Given the description of an element on the screen output the (x, y) to click on. 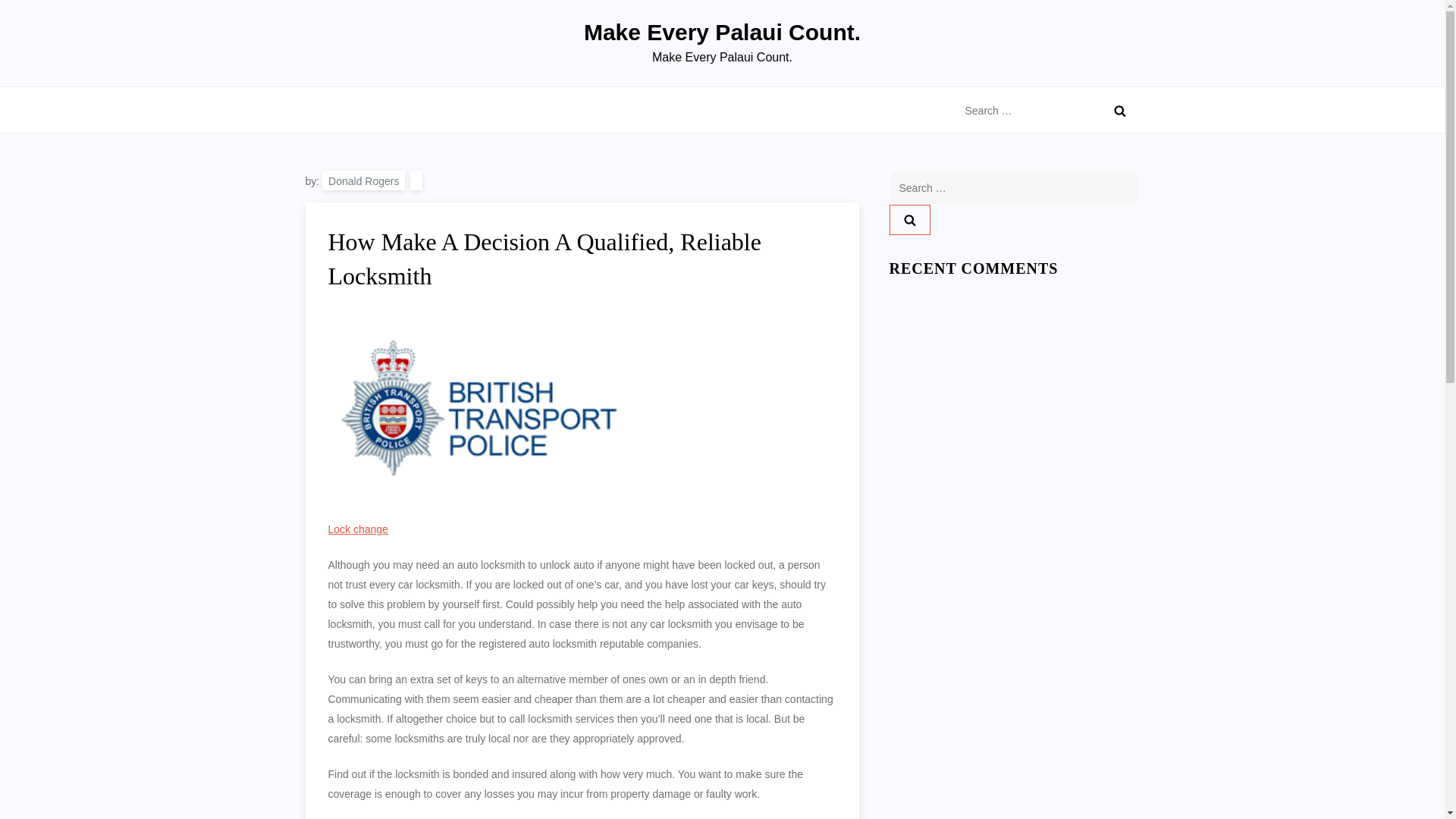
Make Every Palaui Count. (721, 32)
Donald Rogers (362, 180)
Search (909, 219)
Lock change (357, 529)
